Given the description of an element on the screen output the (x, y) to click on. 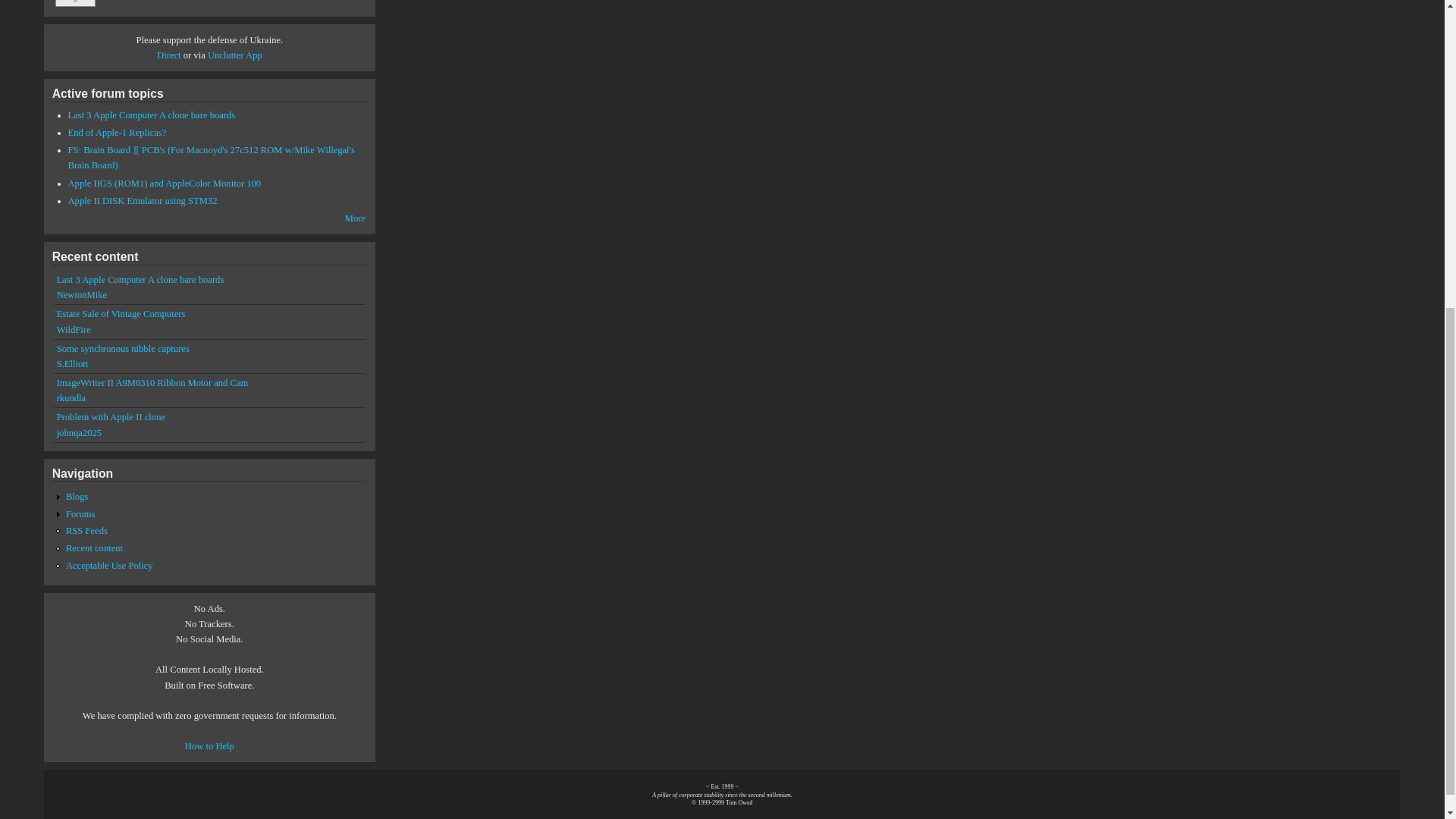
Last 3 Apple Computer A clone bare boards (140, 279)
Log in (75, 2)
Read the latest forum topics. (355, 217)
End of Apple-1 Replicas? (117, 132)
View user profile. (70, 398)
33 comments (211, 157)
Log in (75, 2)
Apple II DISK Emulator using STM32 (142, 200)
32 comments (117, 132)
View user profile. (81, 294)
